Given the description of an element on the screen output the (x, y) to click on. 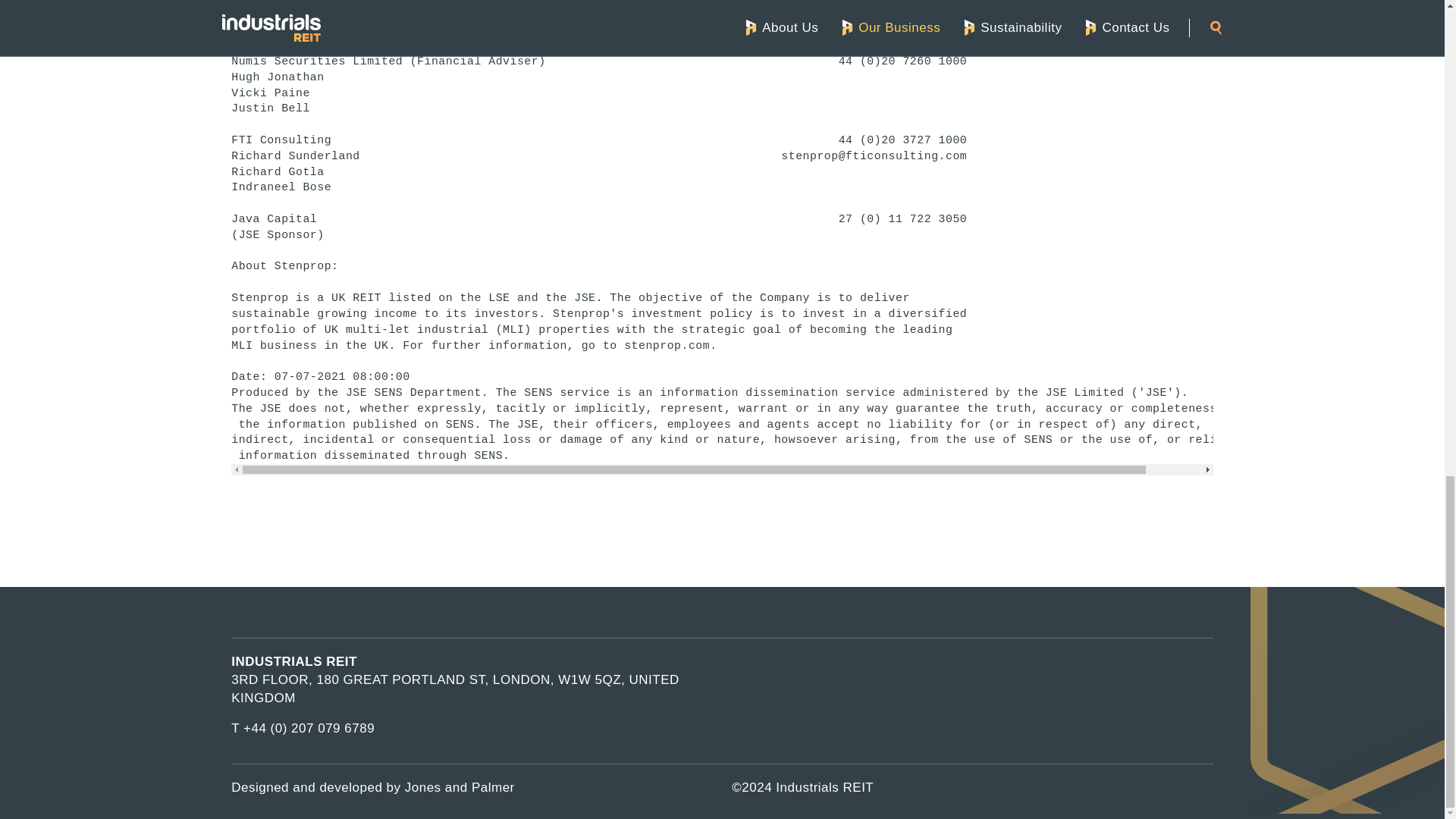
Jones and Palmer (459, 787)
